Given the description of an element on the screen output the (x, y) to click on. 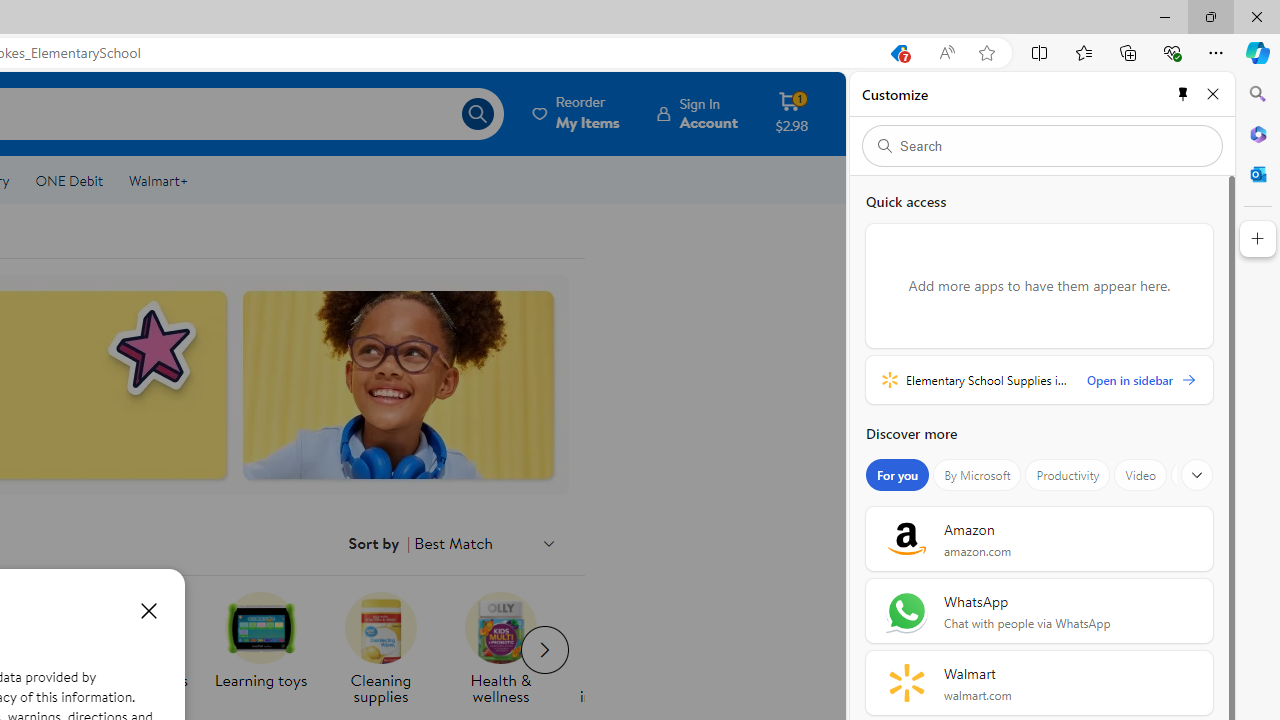
Productivity (1068, 475)
For you (898, 475)
